Given the description of an element on the screen output the (x, y) to click on. 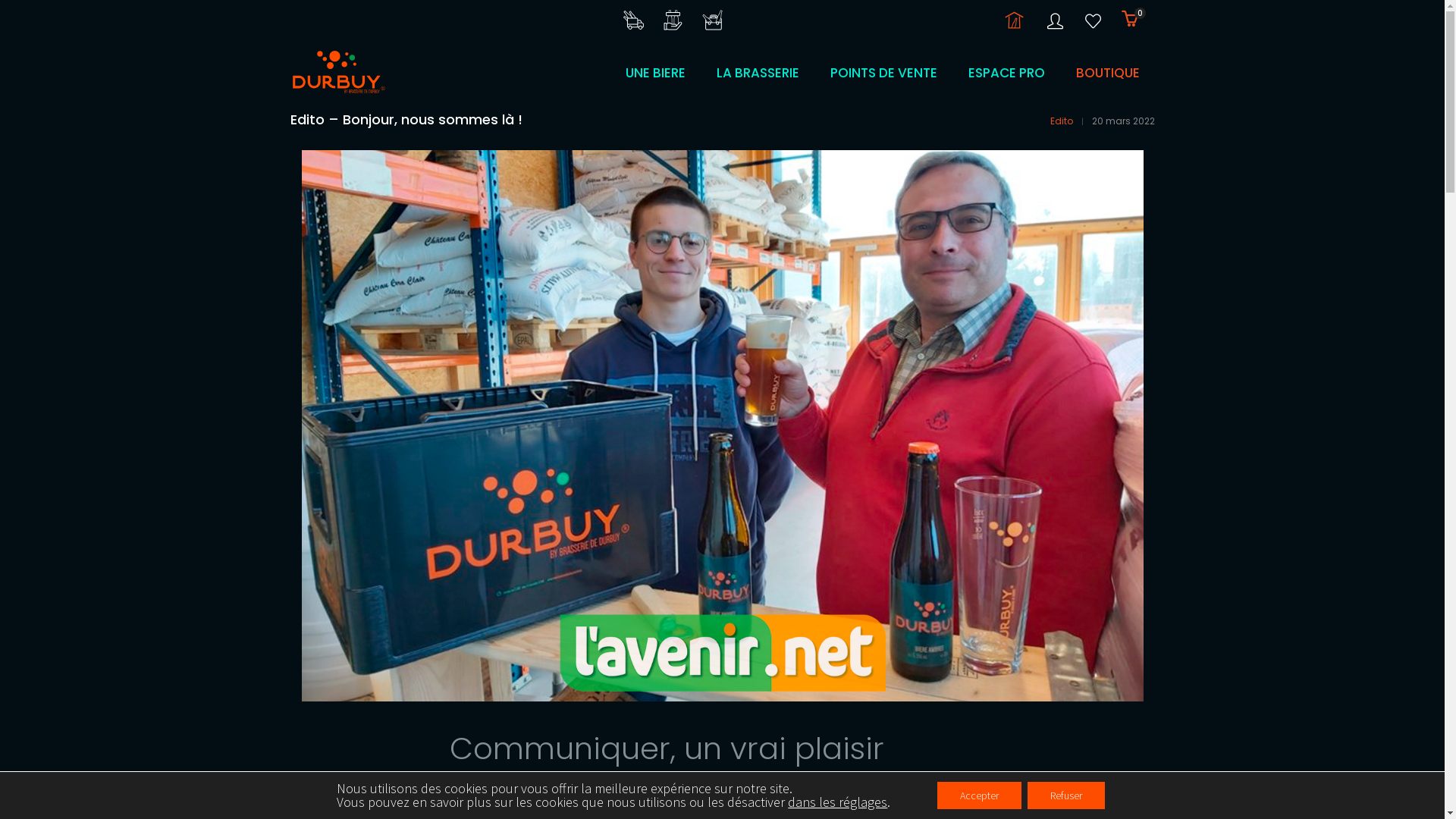
ESPACE PRO Element type: text (1005, 72)
Refuser Element type: text (1065, 795)
POINTS DE VENTE Element type: text (882, 72)
BOUTIQUE Element type: text (1100, 72)
LA BRASSERIE Element type: text (757, 72)
UNE BIERE Element type: text (661, 72)
Accepter Element type: text (979, 795)
Edito Element type: text (1060, 120)
